Given the description of an element on the screen output the (x, y) to click on. 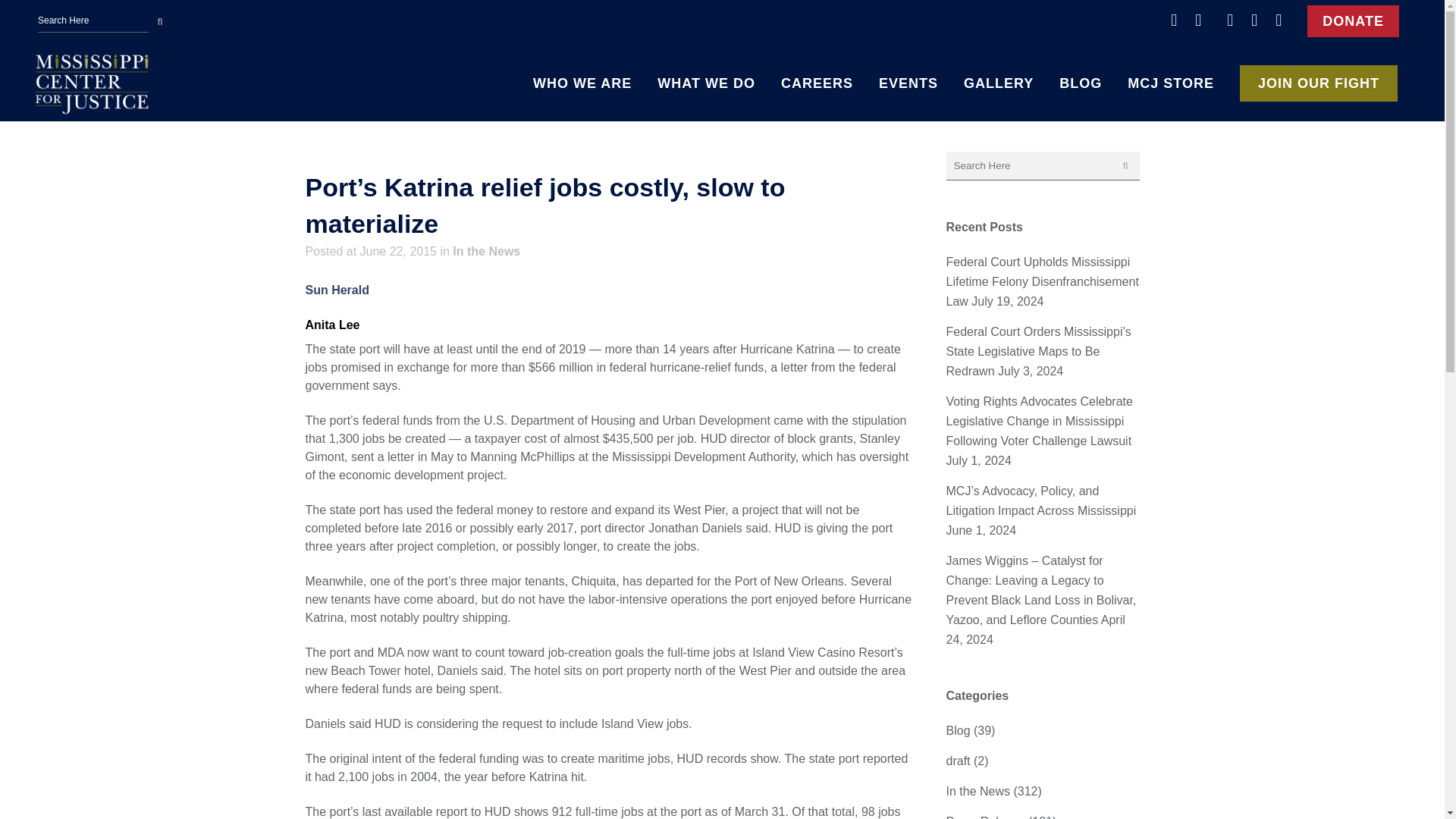
BLOG (1080, 83)
JOIN OUR FIGHT (1318, 83)
WHAT WE DO (706, 83)
EVENTS (908, 83)
GALLERY (998, 83)
MCJ STORE (1171, 83)
DONATE (1353, 20)
WHO WE ARE (582, 83)
CAREERS (817, 83)
